Given the description of an element on the screen output the (x, y) to click on. 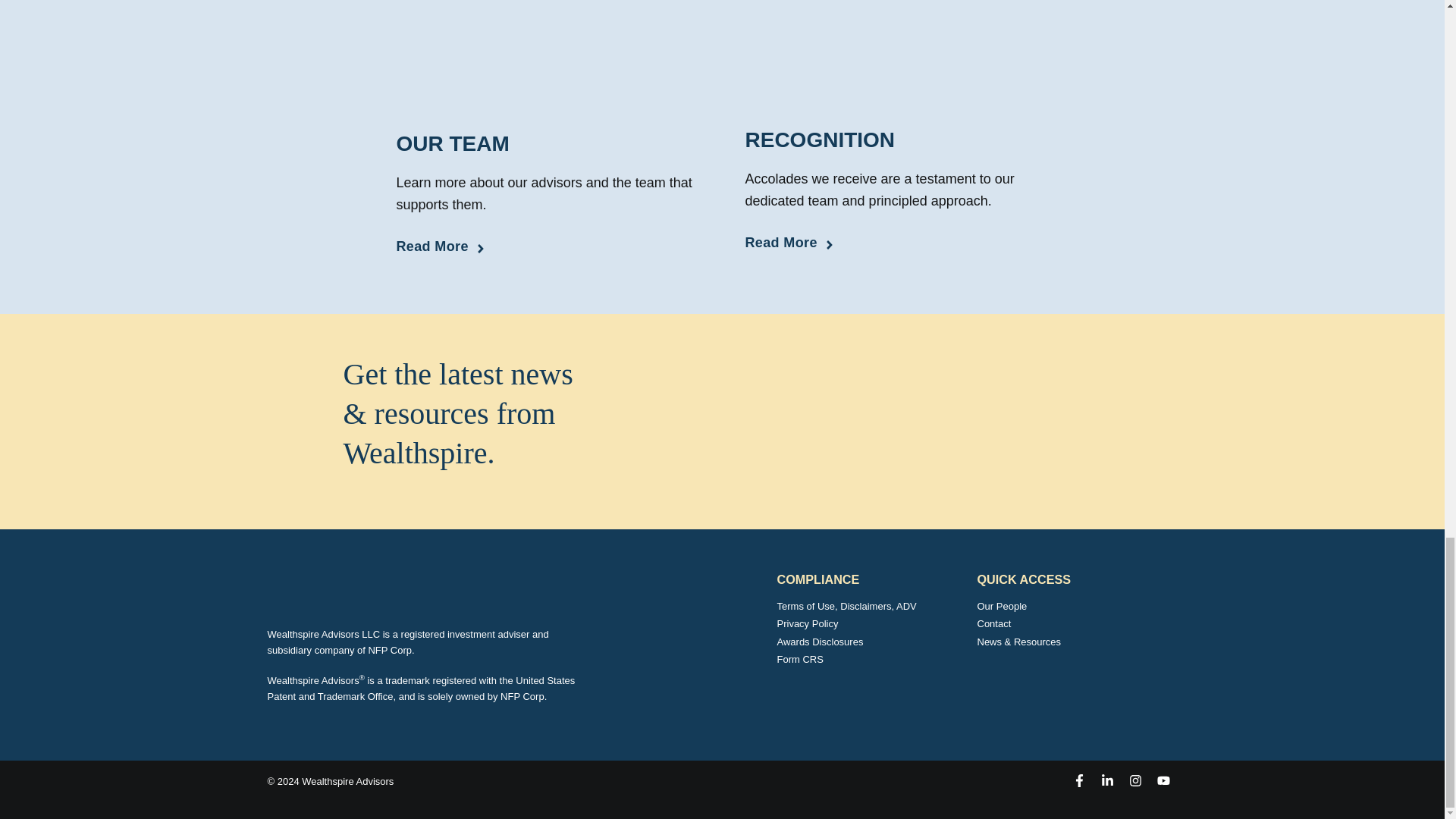
wealthspire-logo (392, 585)
Read More (789, 242)
recognition-600x390 (896, 55)
Read More (441, 246)
Executive-Compensation (547, 57)
